Given the description of an element on the screen output the (x, y) to click on. 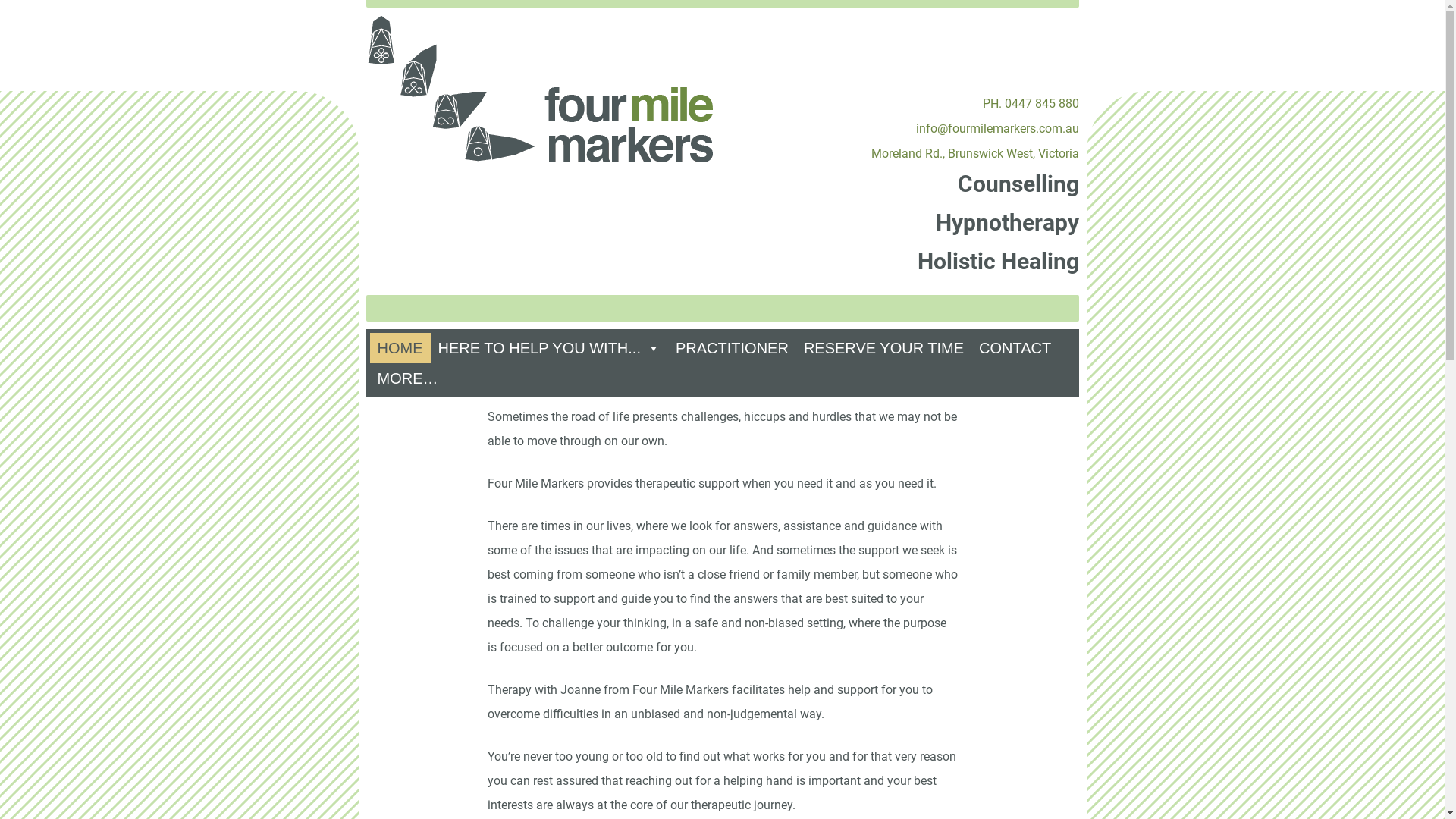
RESERVE YOUR TIME Element type: text (883, 347)
CONTACT Element type: text (1014, 347)
info@fourmilemarkers.com.au Element type: text (997, 128)
PRACTITIONER Element type: text (732, 347)
HERE TO HELP YOU WITH... Element type: text (549, 347)
HOME Element type: text (400, 347)
